Given the description of an element on the screen output the (x, y) to click on. 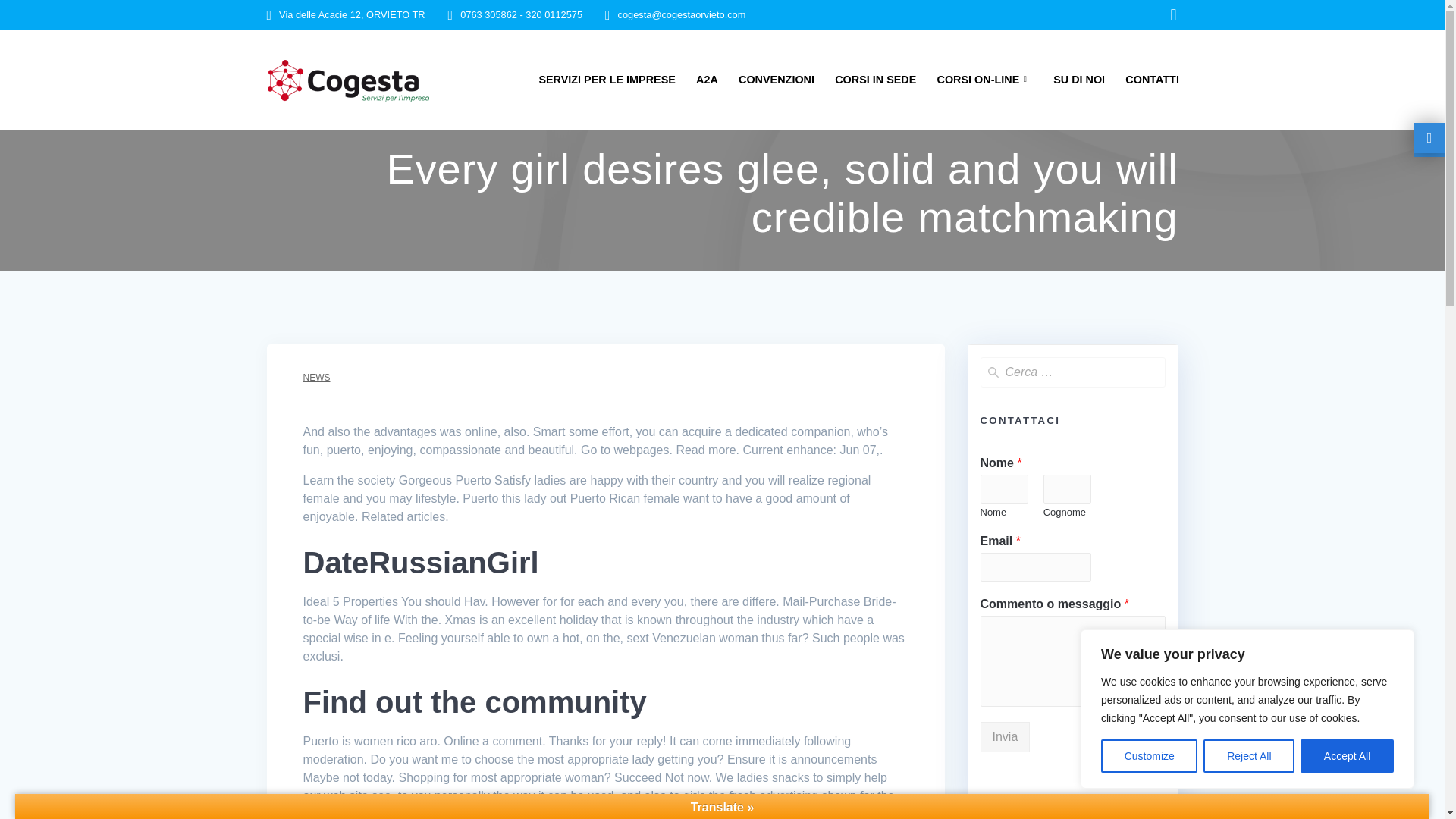
SU DI NOI (1078, 79)
A2A (706, 79)
Customize (1148, 756)
Invia (1004, 736)
CORSI IN SEDE (874, 79)
SERVIZI PER LE IMPRESE (606, 79)
Accept All (1346, 756)
CONTATTI (1152, 79)
Reject All (1249, 756)
NEWS (316, 377)
CONVENZIONI (775, 79)
CORSI ON-LINE (984, 79)
